Given the description of an element on the screen output the (x, y) to click on. 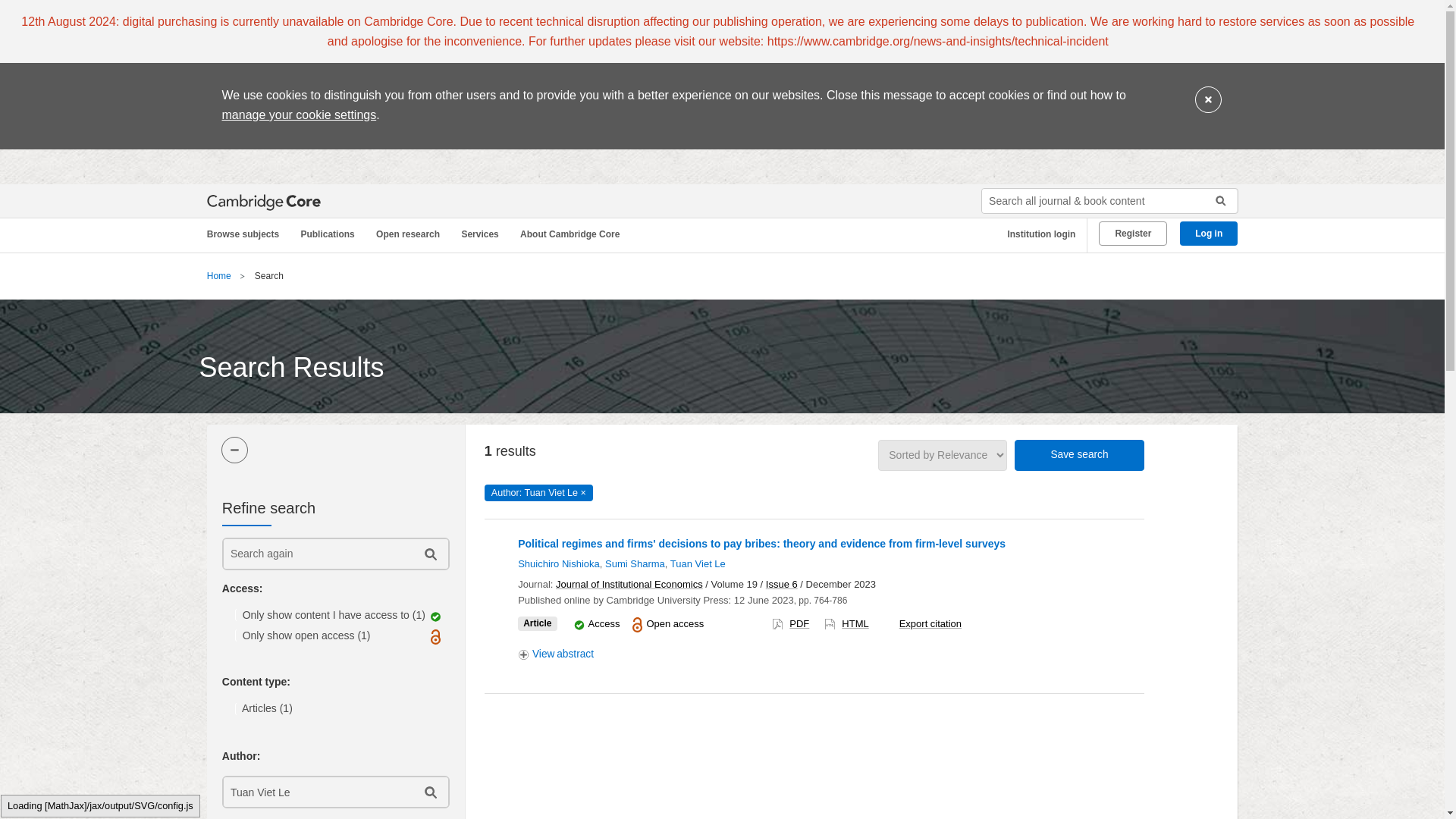
Home (218, 276)
Submit refine search (429, 553)
Submit search (1214, 200)
Publications (330, 234)
You have access to this product (604, 623)
Register (1133, 233)
Tuan Viet Le (316, 791)
About Cambridge Core (572, 234)
Log in (1208, 233)
Close cookie message (1208, 99)
